Given the description of an element on the screen output the (x, y) to click on. 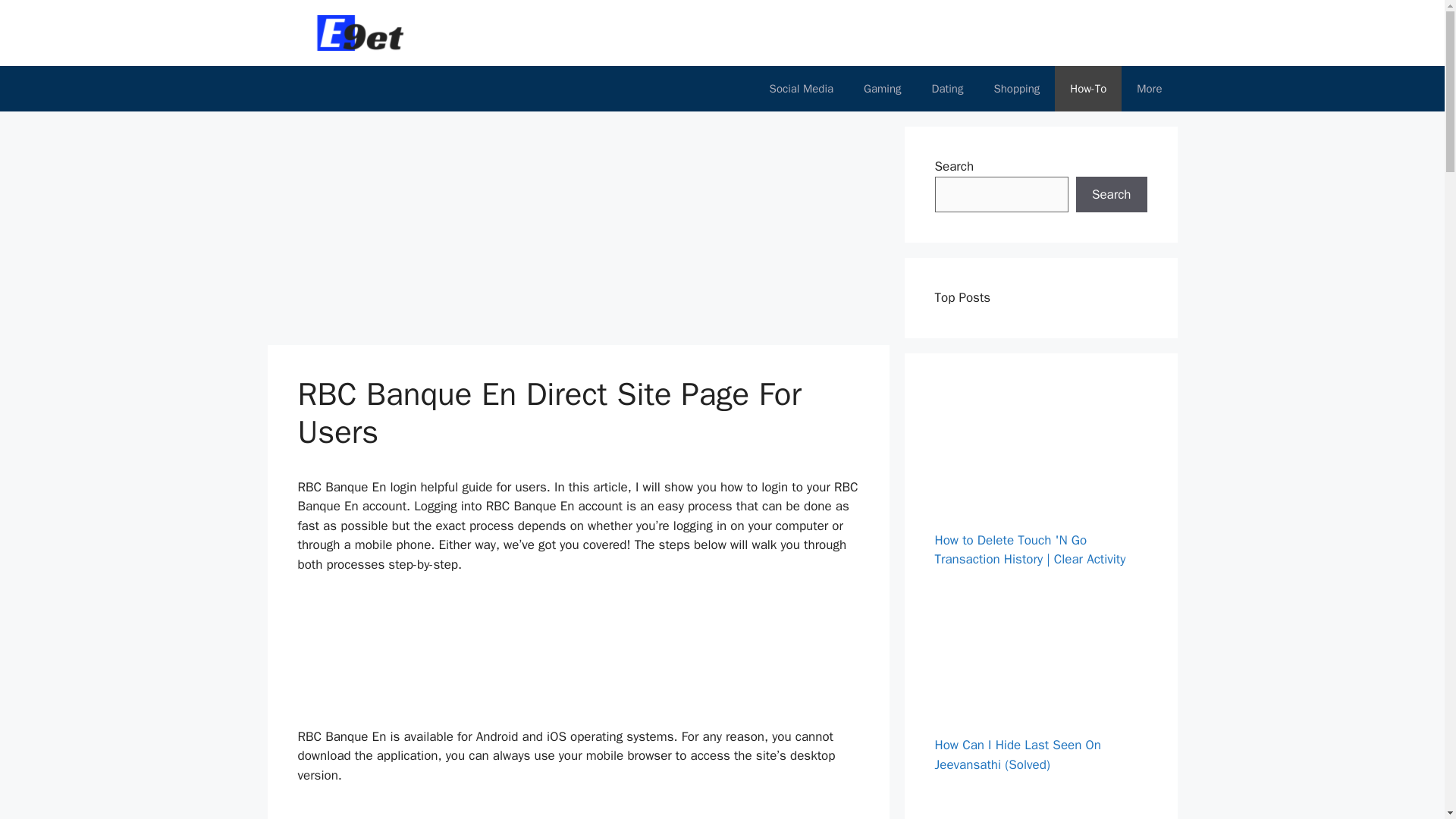
How to Remove Credit Card from Agoda (1026, 634)
Advertisement (578, 657)
Advertisement (550, 232)
How-To (1087, 88)
Gaming (881, 88)
More (1148, 88)
Advertisement (578, 811)
Shopping (1016, 88)
Dating (947, 88)
Search (1111, 194)
Social Media (801, 88)
